Given the description of an element on the screen output the (x, y) to click on. 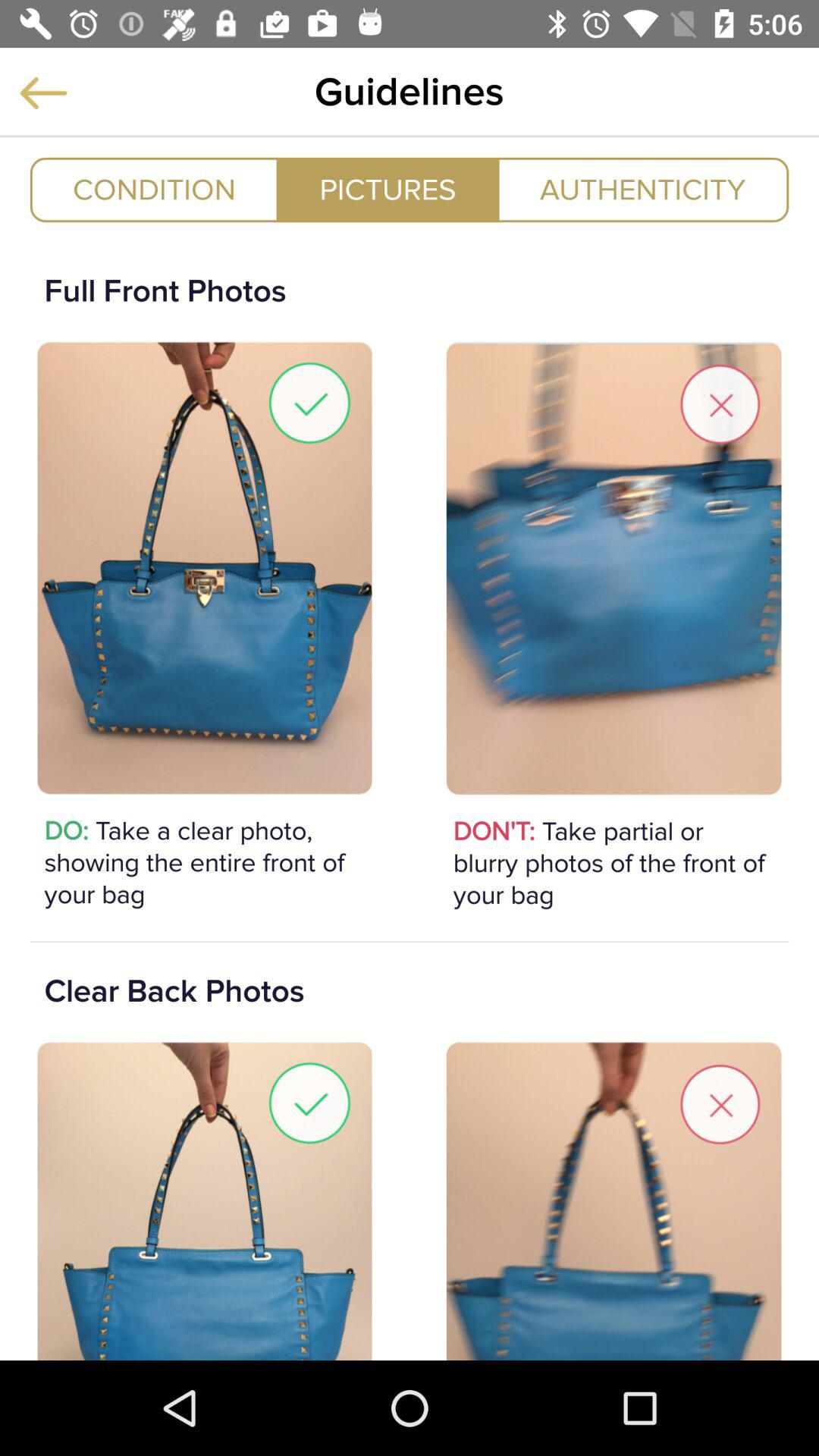
click the condition item (154, 189)
